Given the description of an element on the screen output the (x, y) to click on. 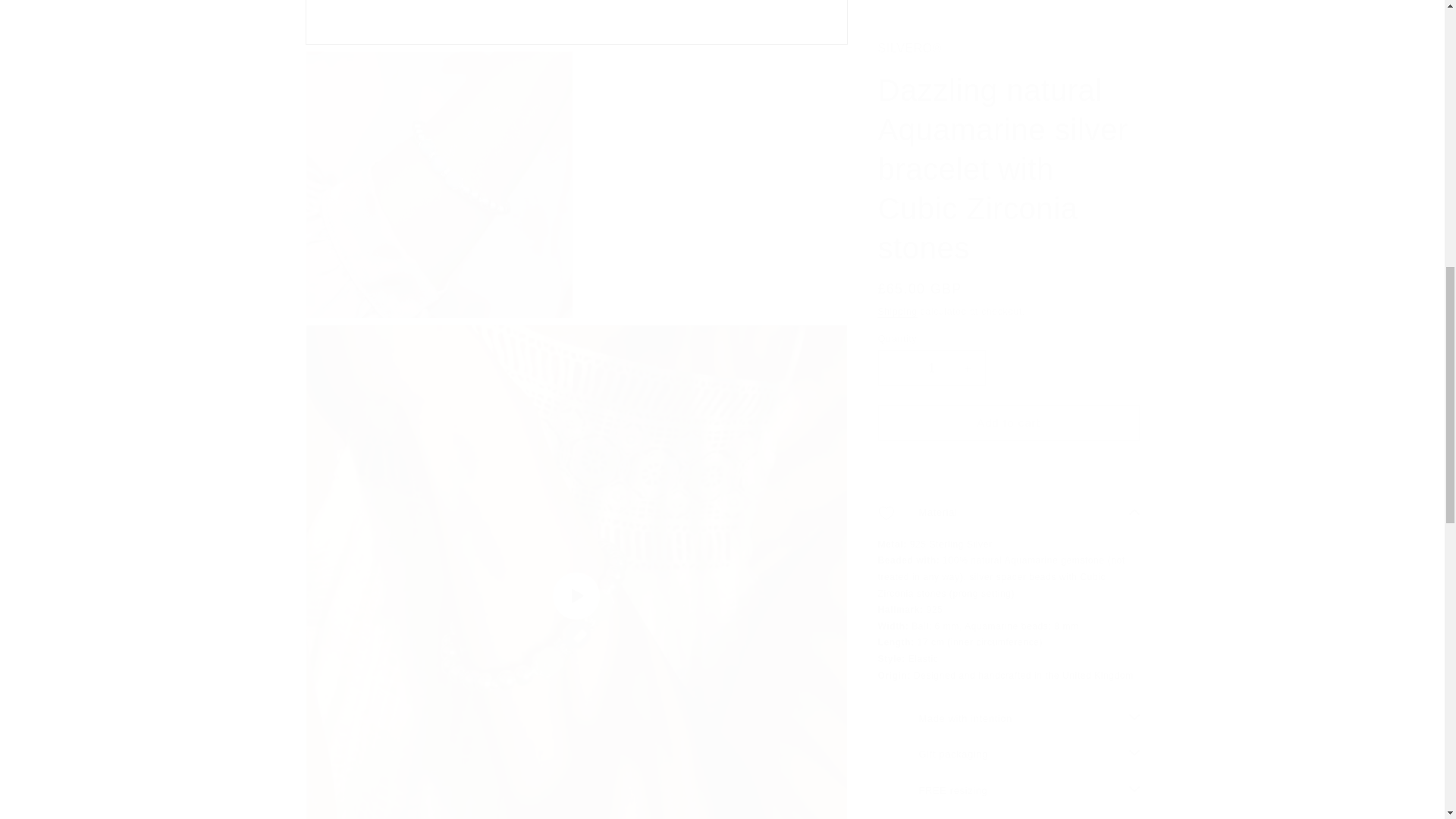
Open media 1 in modal (575, 14)
Open media 2 in modal (438, 169)
